Given the description of an element on the screen output the (x, y) to click on. 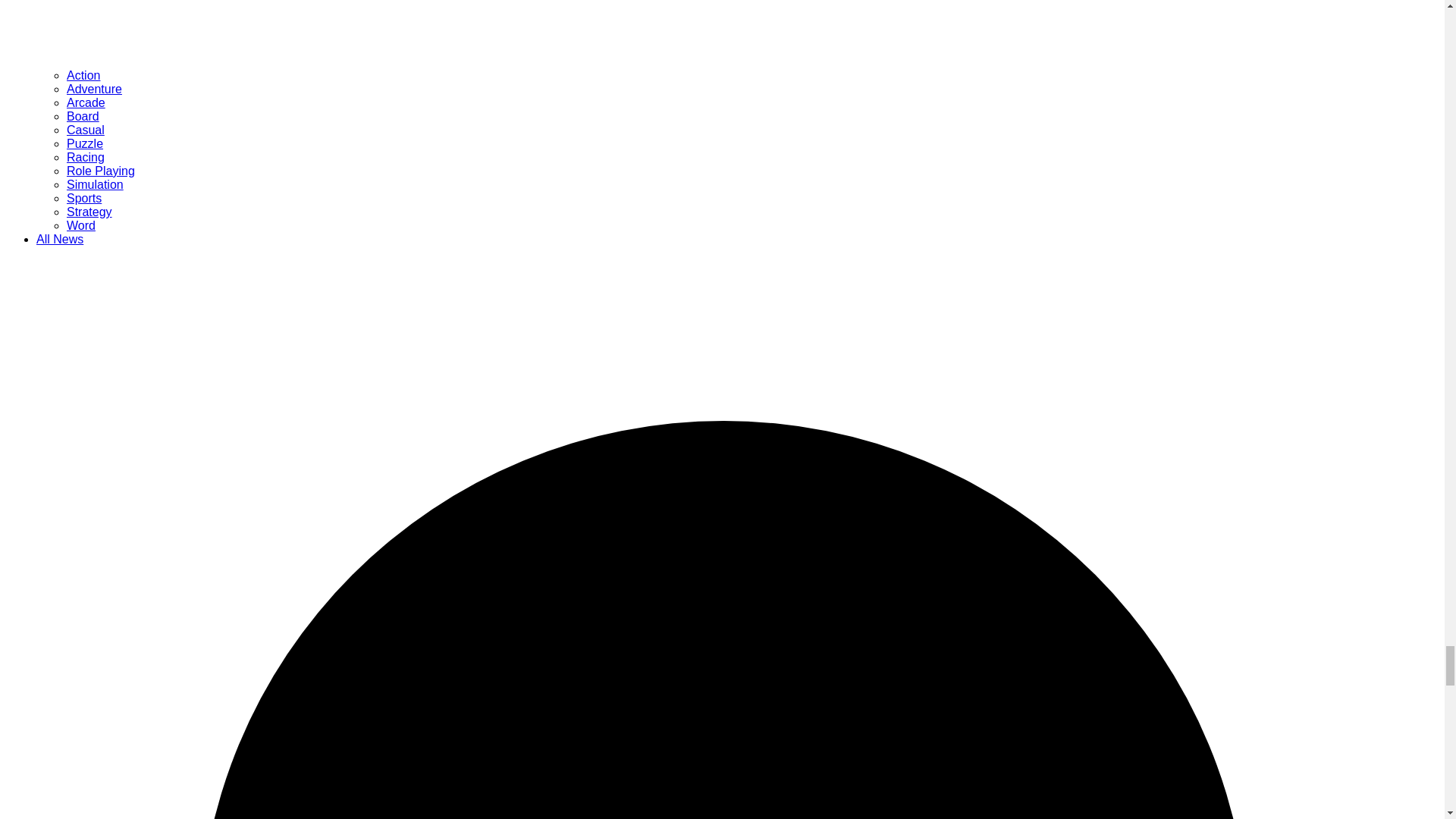
Action (83, 74)
Casual (85, 129)
Board (82, 115)
Arcade (85, 102)
Adventure (94, 88)
Puzzle (84, 143)
